Given the description of an element on the screen output the (x, y) to click on. 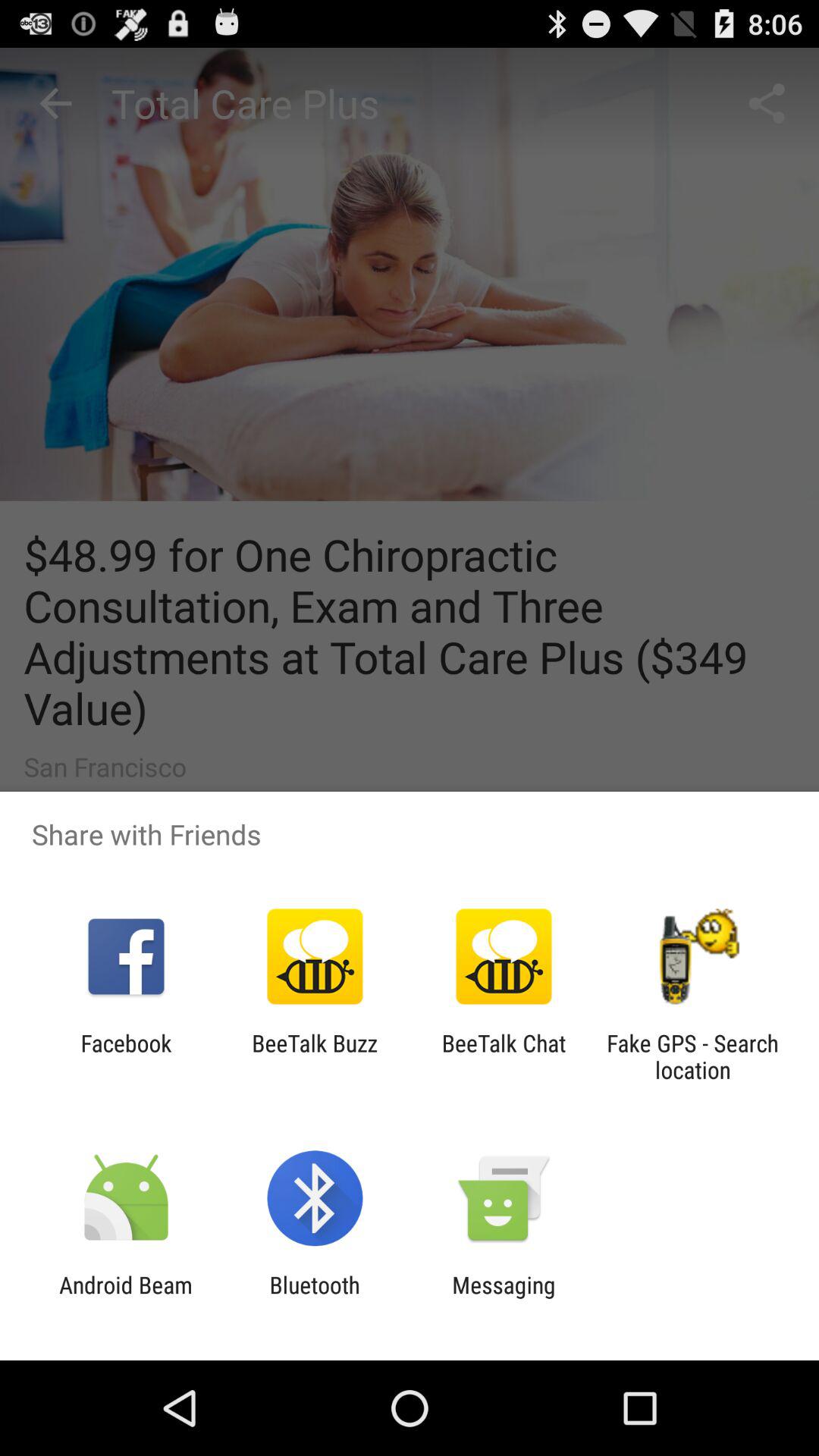
swipe to the fake gps search item (692, 1056)
